Given the description of an element on the screen output the (x, y) to click on. 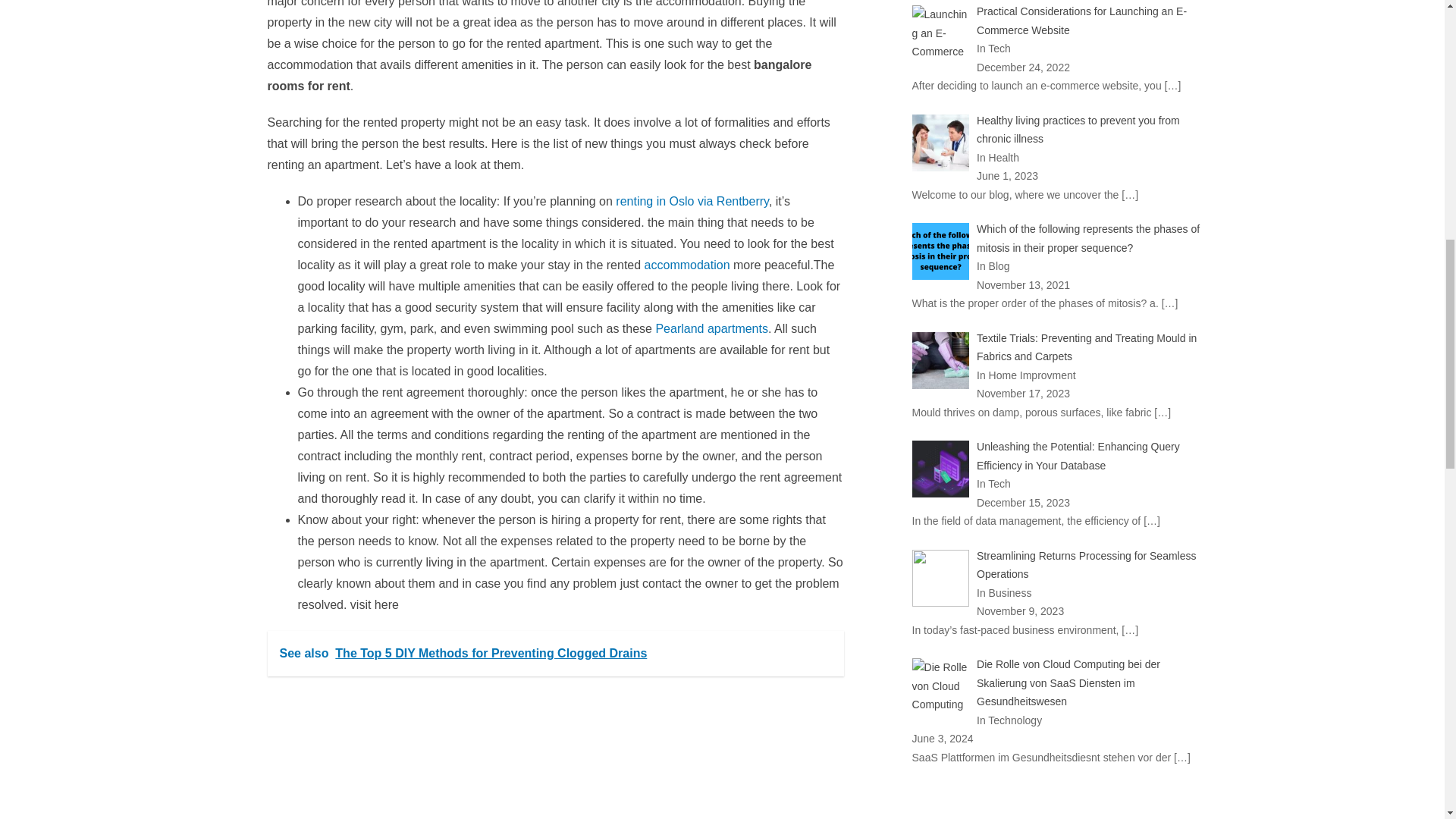
YouTube video player (478, 753)
